Given the description of an element on the screen output the (x, y) to click on. 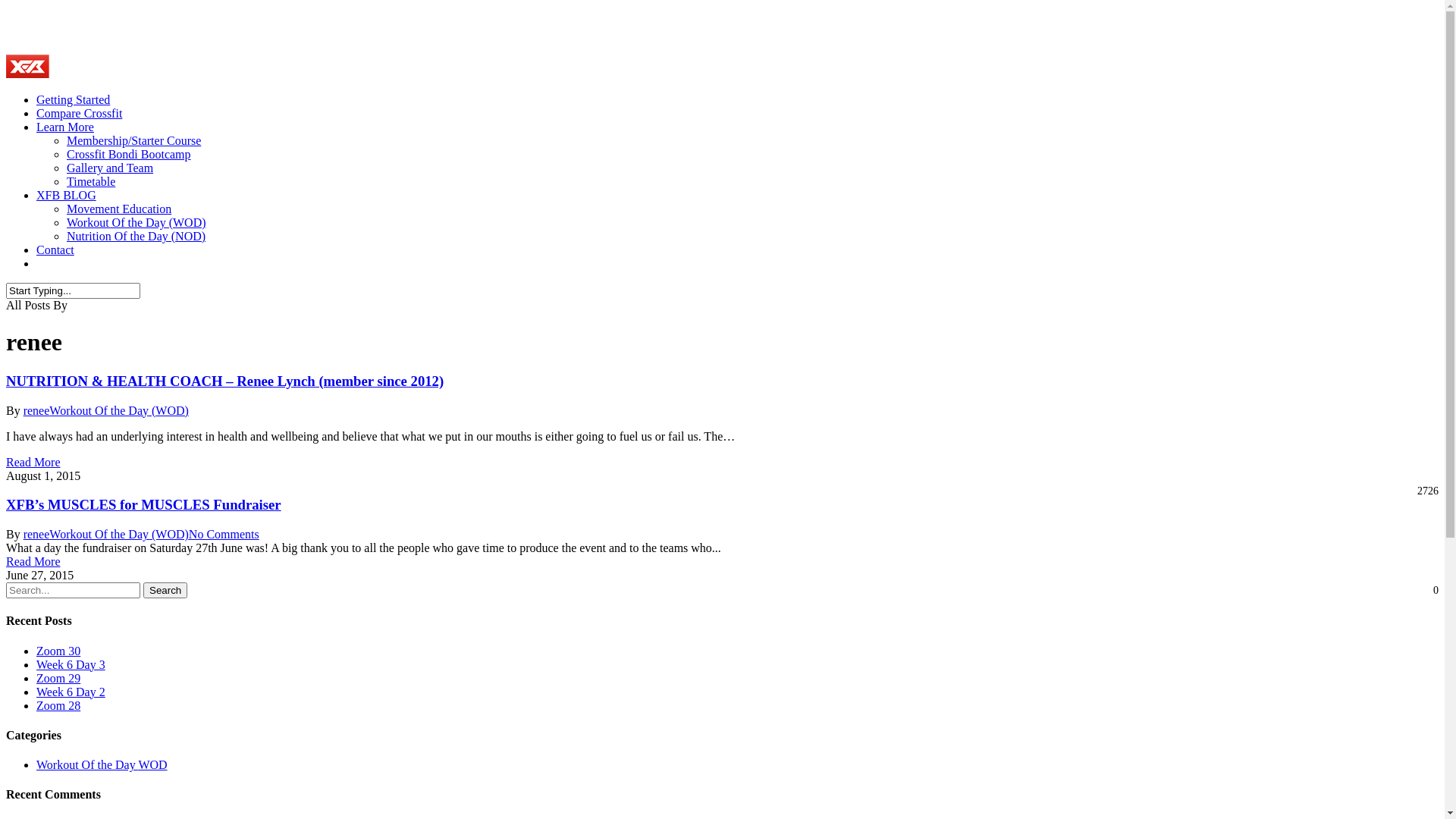
Workout Of the Day (WOD) Element type: text (118, 533)
Gallery and Team Element type: text (109, 167)
Contact Element type: text (55, 249)
Compare Crossfit Element type: text (79, 112)
Membership/Starter Course Element type: text (133, 140)
No Comments Element type: text (223, 533)
Week 6 Day 2 Element type: text (70, 691)
Zoom 29 Element type: text (58, 677)
Zoom 28 Element type: text (58, 705)
Skip to main content Element type: text (5, 5)
Search for: Element type: hover (73, 590)
Week 6 Day 3 Element type: text (70, 664)
Close Menu Element type: text (1414, 29)
2726 Element type: text (1425, 491)
Learn More Element type: text (65, 126)
Movement Education Element type: text (118, 208)
renee Element type: text (36, 410)
XFB BLOG Element type: text (66, 194)
Timetable Element type: text (90, 181)
0 Element type: text (1433, 590)
Zoom 30 Element type: text (58, 650)
Workout Of the Day (WOD) Element type: text (118, 410)
Read More Element type: text (33, 561)
Crossfit Bondi Bootcamp Element type: text (128, 153)
Search Element type: text (165, 590)
renee Element type: text (36, 533)
Nutrition Of the Day (NOD) Element type: text (135, 235)
Read More Element type: text (33, 461)
Getting Started Element type: text (72, 99)
Workout Of the Day WOD Element type: text (101, 764)
Workout Of the Day (WOD) Element type: text (136, 222)
